Given the description of an element on the screen output the (x, y) to click on. 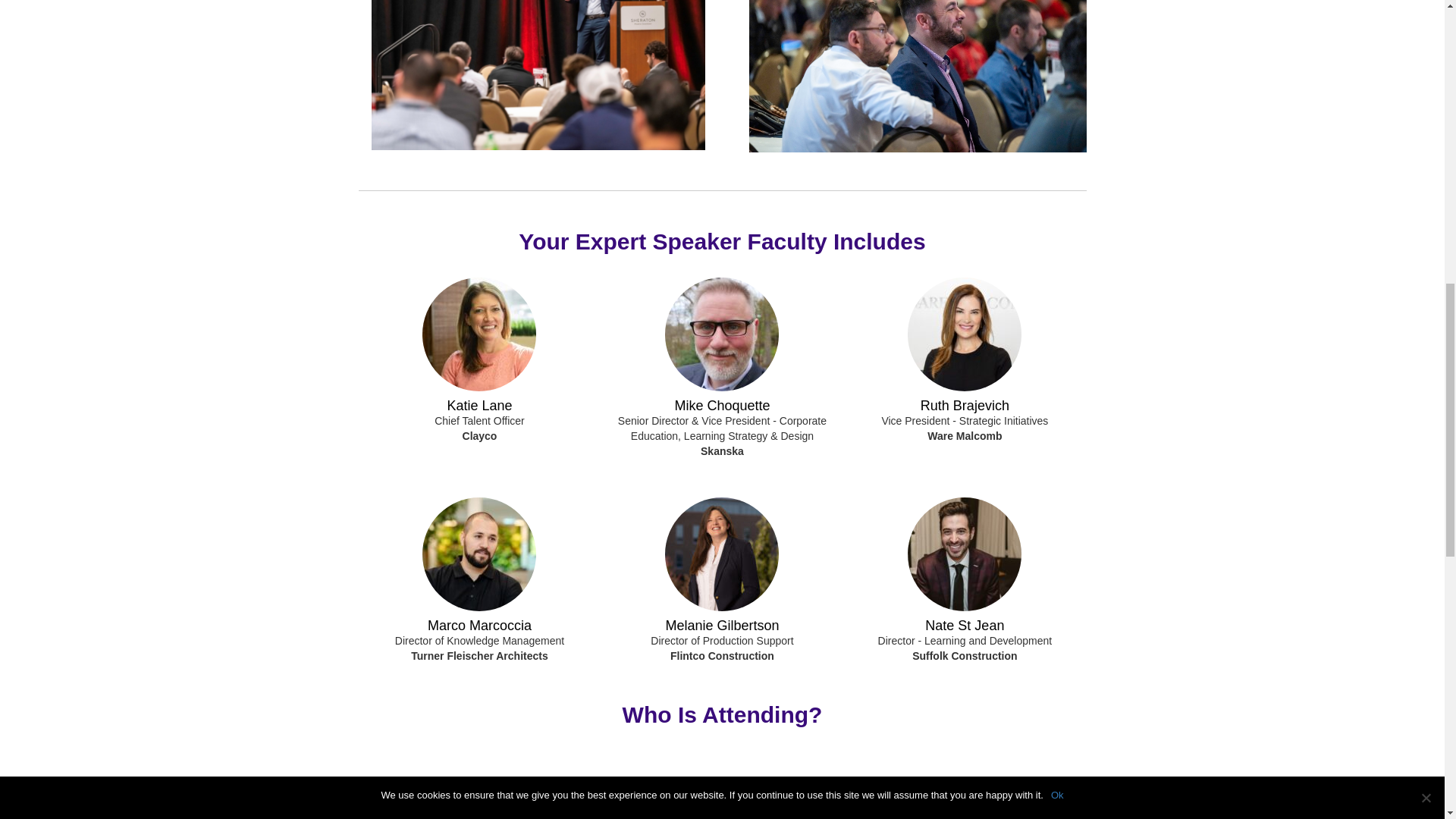
Mike Choquette (722, 405)
Melanie Gilbertson (721, 625)
450 x 300 (537, 74)
Katie Lane (479, 405)
Ruth Brajevich (964, 405)
Nate St Jean (964, 625)
Marco Marcoccia (479, 625)
